Given the description of an element on the screen output the (x, y) to click on. 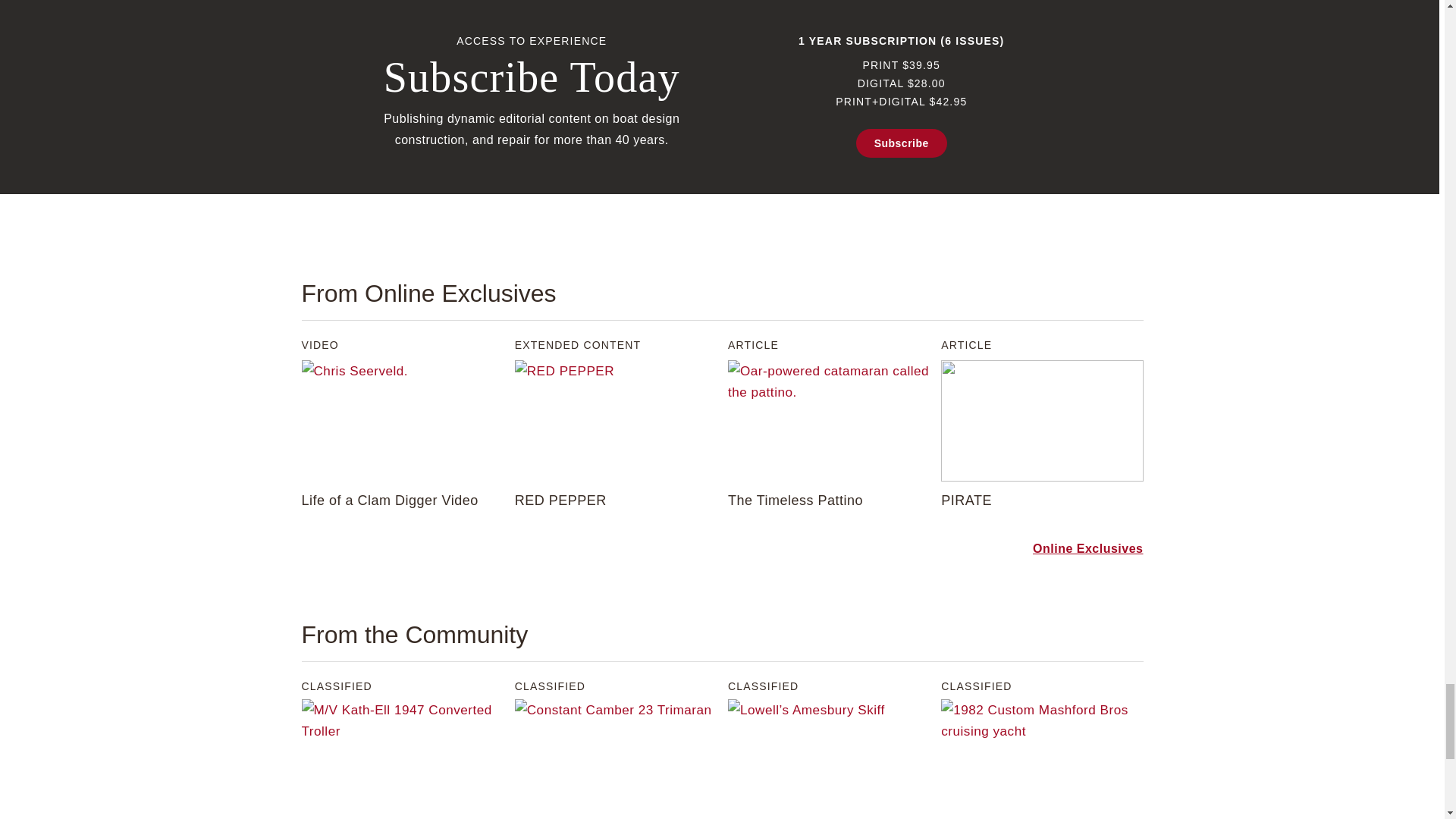
1982 60' Custom Mashford Bros - LONE STAR (1041, 759)
Constant Camber 23 Trimaran (615, 759)
1947 Converted Troller (402, 759)
